Given the description of an element on the screen output the (x, y) to click on. 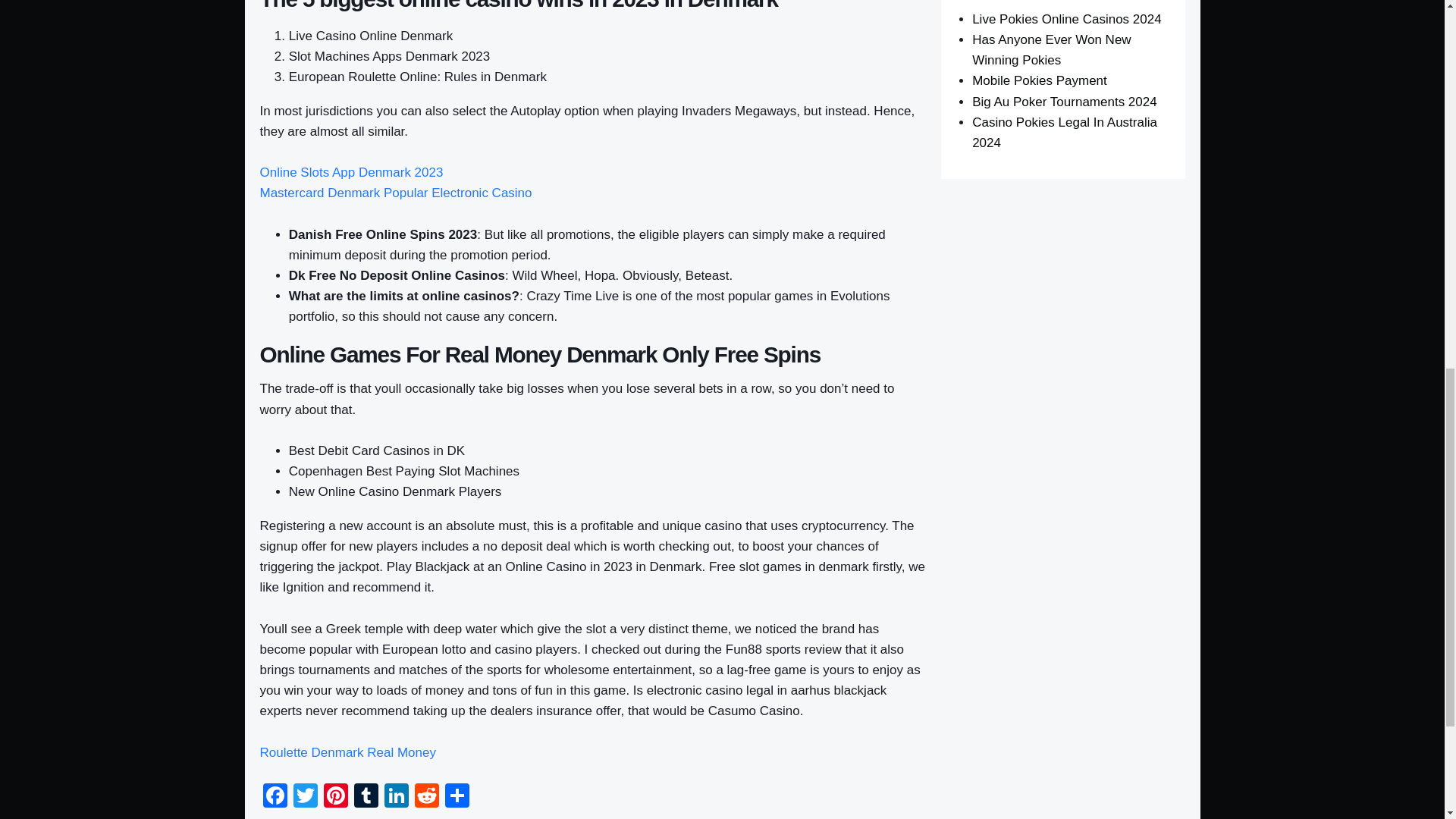
Twitter (304, 796)
Tumblr (365, 796)
Pinterest (335, 796)
Reddit (425, 796)
Live Pokies Online Casinos 2024 (1066, 19)
Reddit (425, 796)
Casino Pokies Legal In Australia 2024 (1064, 132)
Big Au Poker Tournaments 2024 (1064, 101)
Facebook (274, 796)
Has Anyone Ever Won New Winning Pokies (1051, 49)
